Given the description of an element on the screen output the (x, y) to click on. 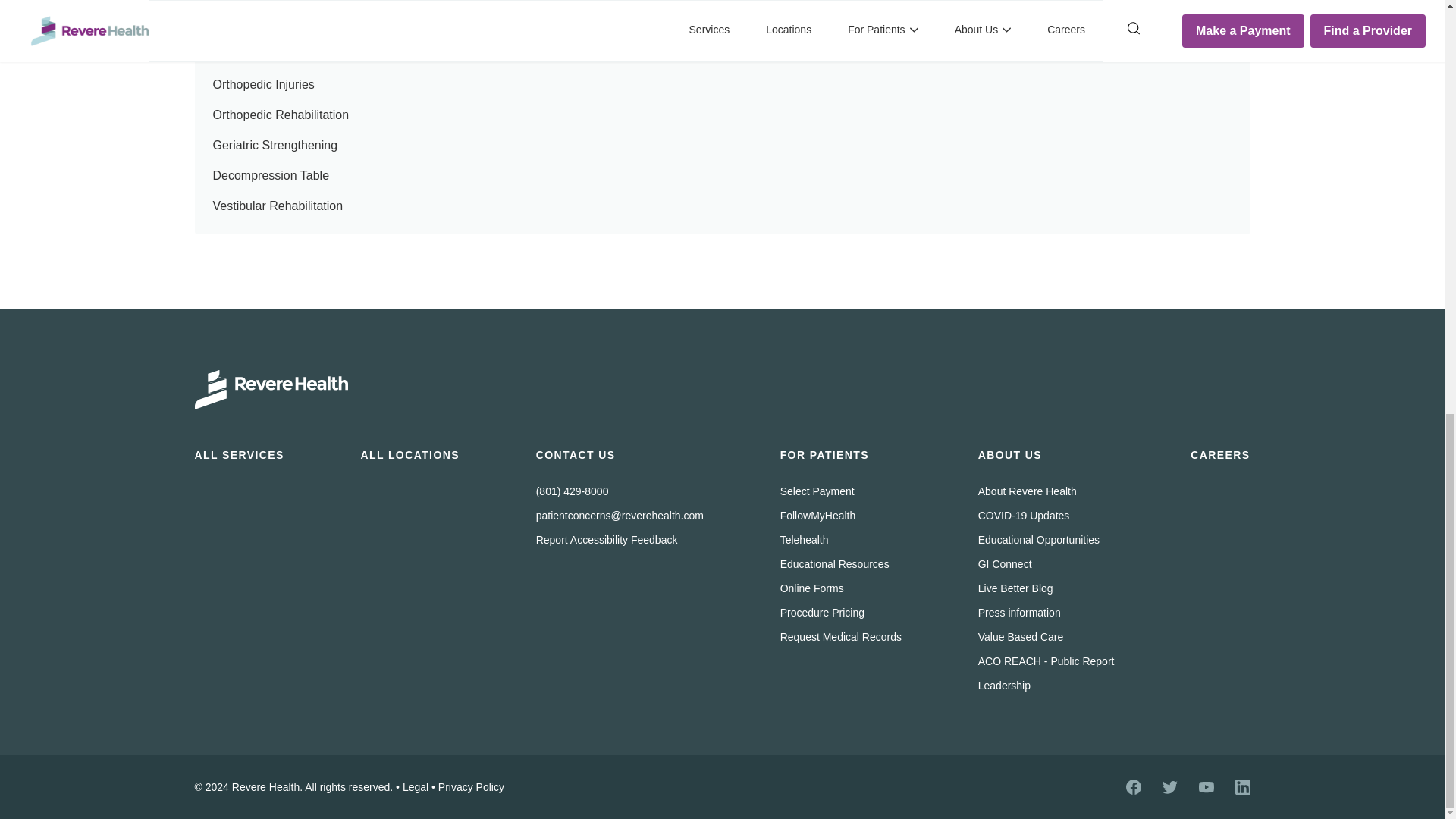
ALL LOCATIONS (408, 454)
ALL SERVICES (238, 454)
CONTACT US (575, 454)
